Given the description of an element on the screen output the (x, y) to click on. 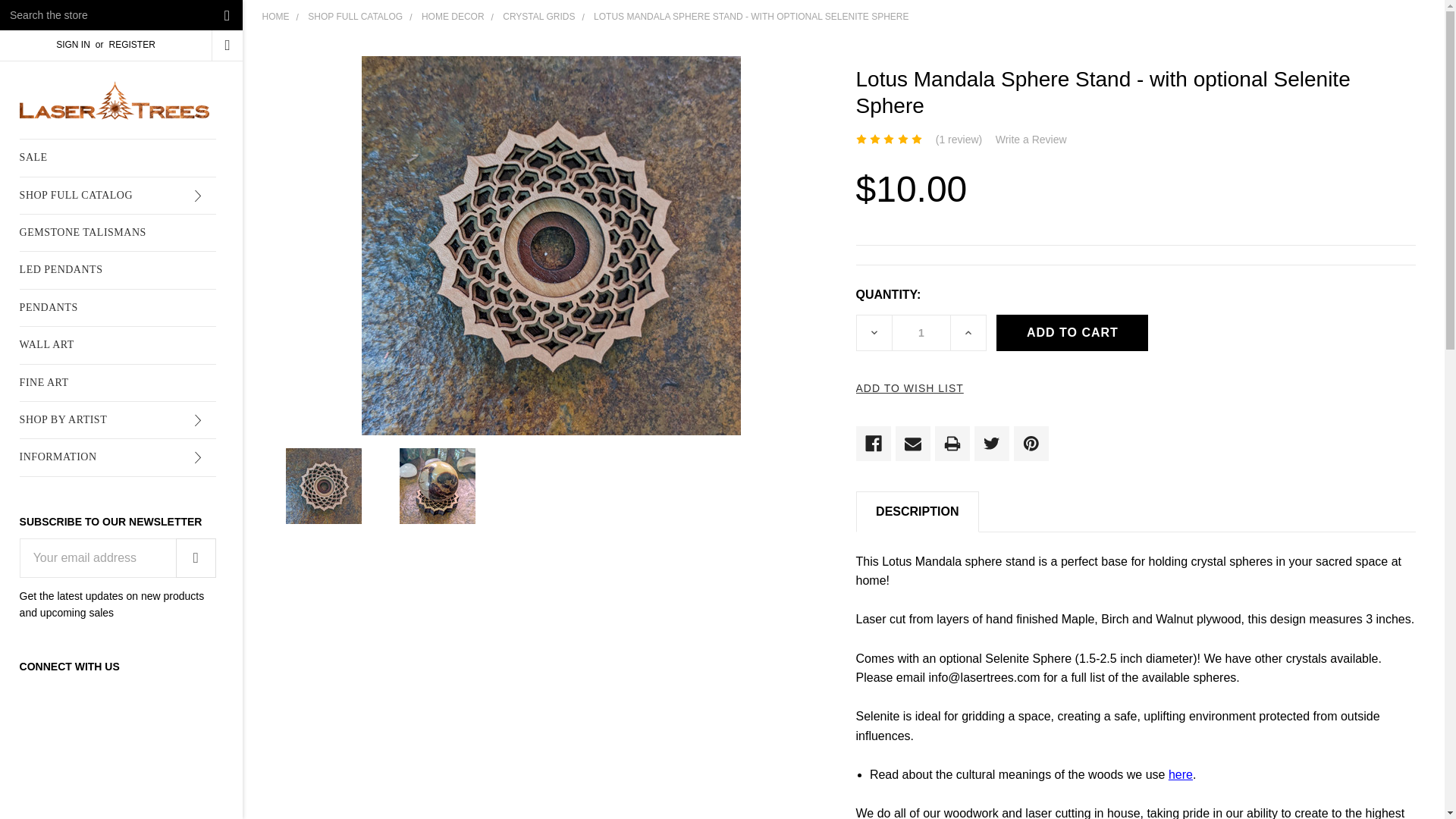
REGISTER (131, 45)
SEARCH (227, 15)
1 (920, 332)
SIGN IN (73, 45)
SALE (118, 157)
Add to Wish list (909, 387)
LED Pendants (118, 270)
Add to Cart (1071, 332)
